Given the description of an element on the screen output the (x, y) to click on. 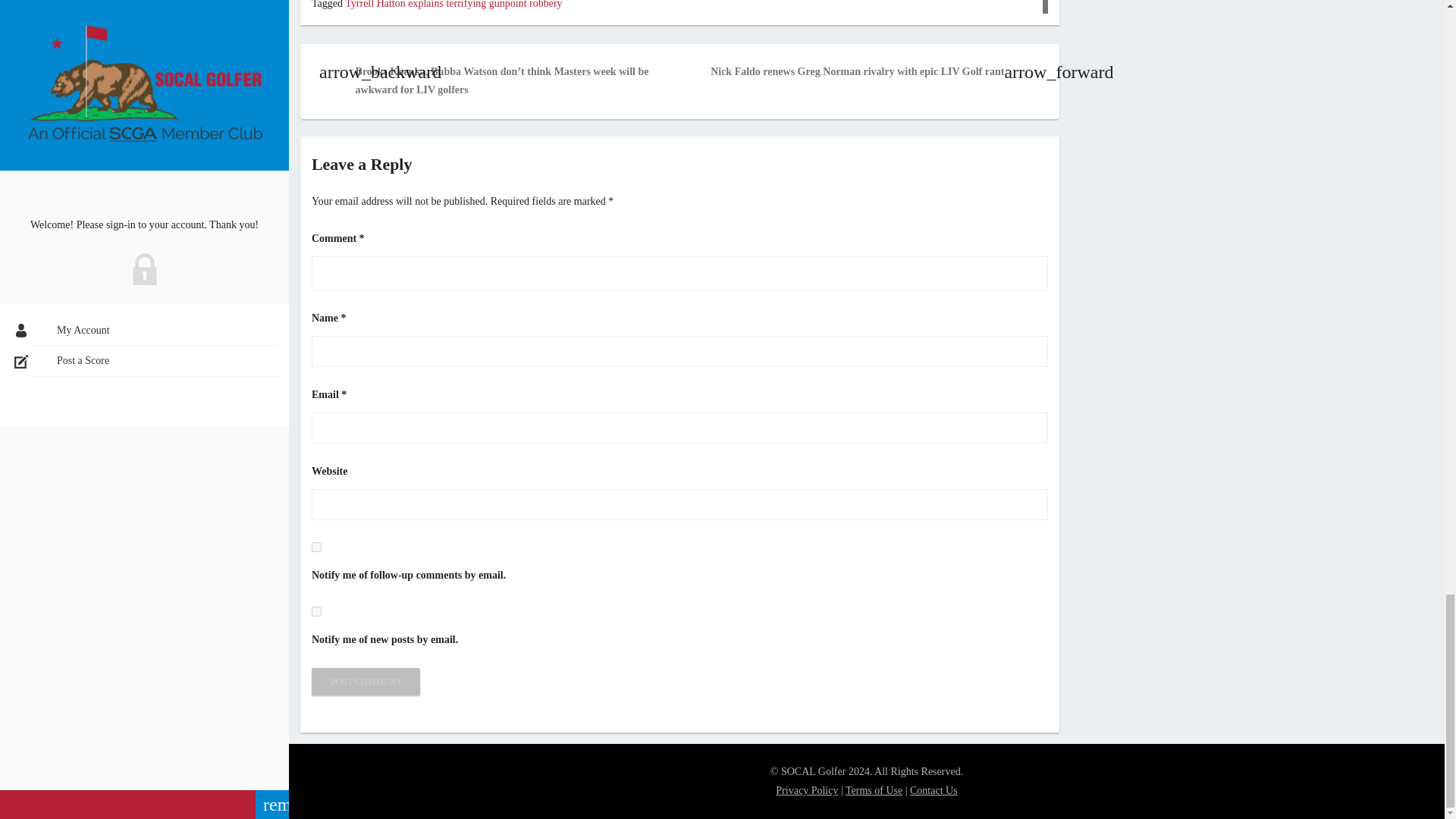
Post Comment (365, 681)
Tyrrell Hatton explains terrifying gunpoint robbery (453, 4)
subscribe (316, 611)
Post Comment (365, 681)
subscribe (316, 547)
